Given the description of an element on the screen output the (x, y) to click on. 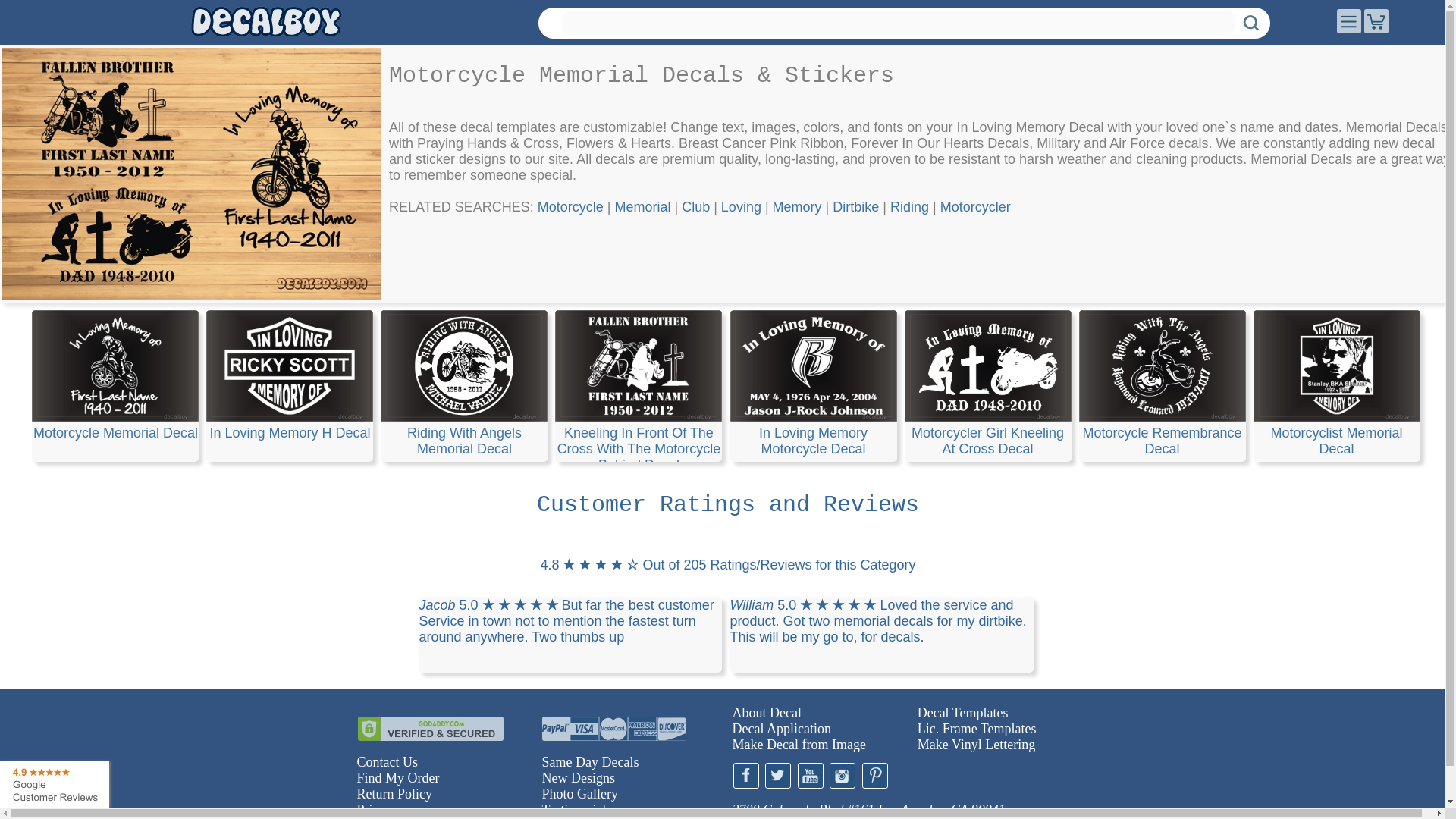
Pinterest (873, 775)
Facebook (745, 775)
Instagram (842, 775)
Twitter (777, 775)
YouTube (810, 775)
